Given the description of an element on the screen output the (x, y) to click on. 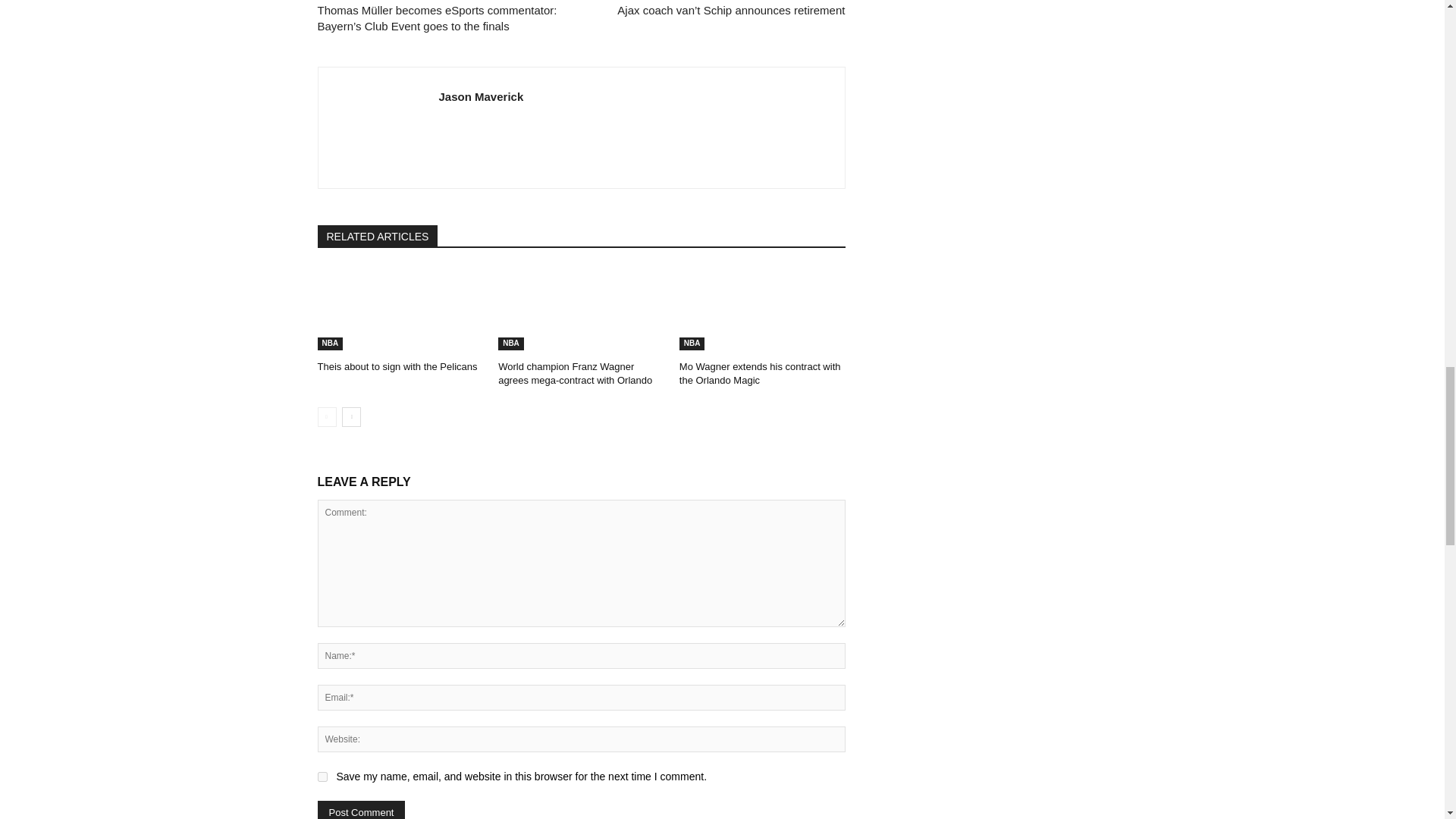
Post Comment (360, 809)
yes (321, 777)
